Given the description of an element on the screen output the (x, y) to click on. 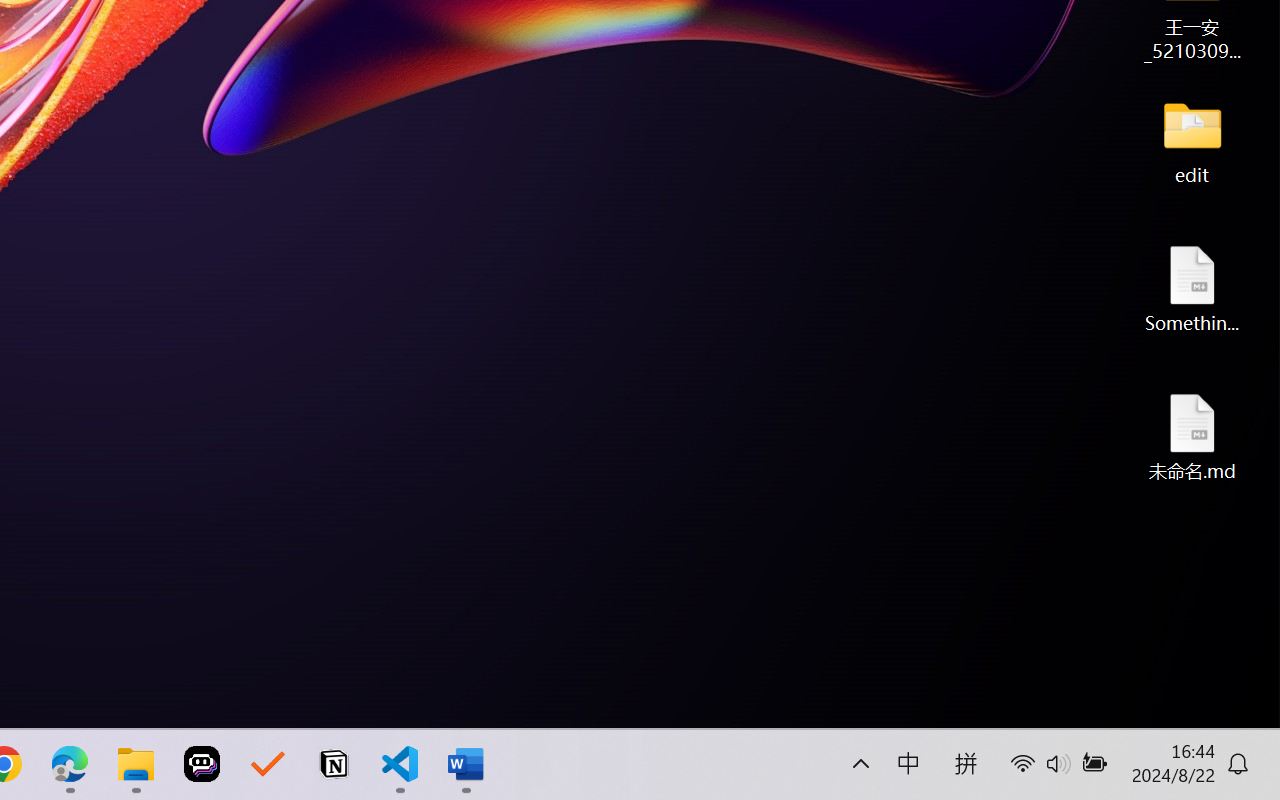
edit (1192, 140)
